Given the description of an element on the screen output the (x, y) to click on. 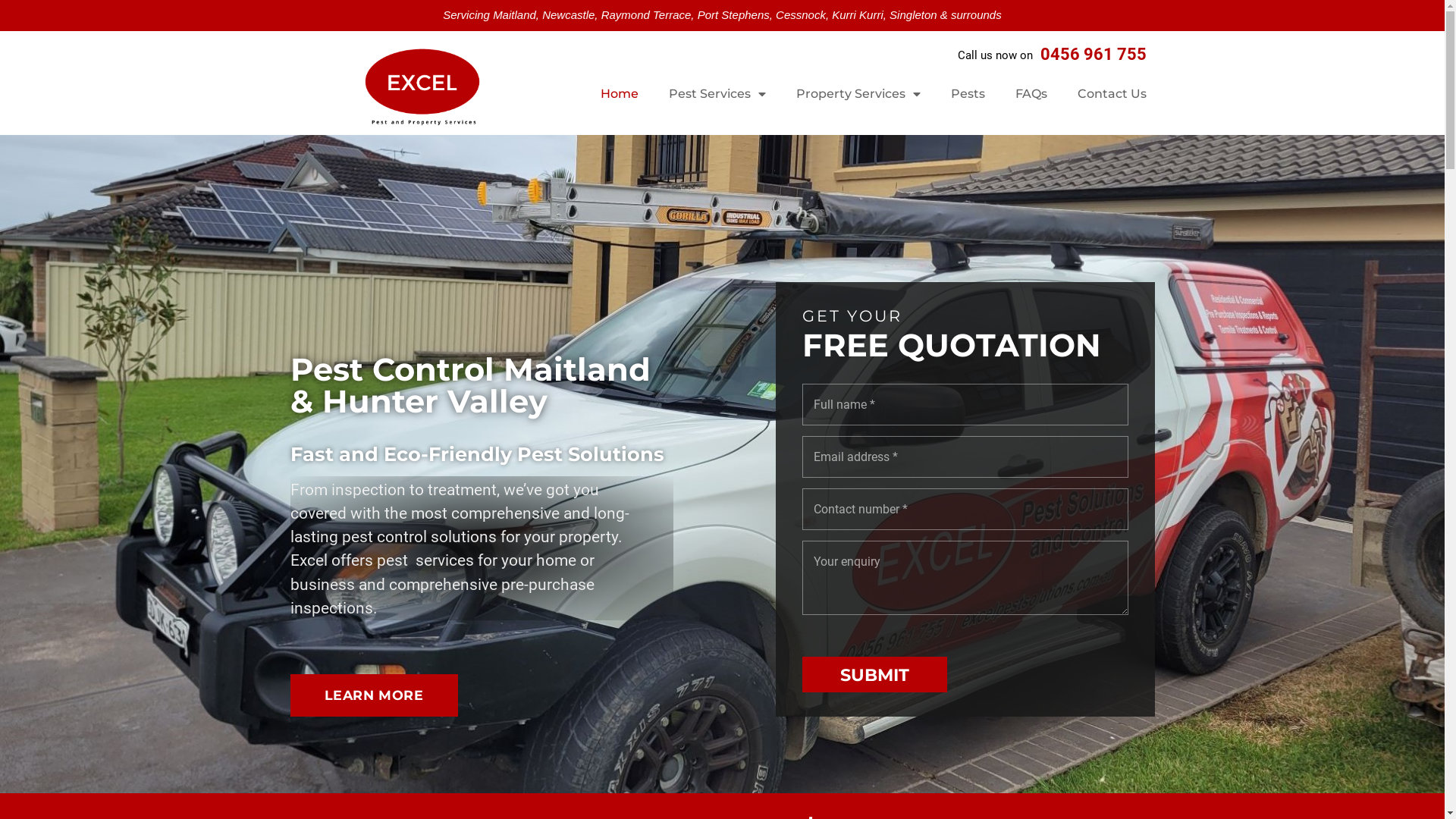
Contact Us Element type: text (1111, 93)
FAQs Element type: text (1031, 93)
LEARN MORE Element type: text (373, 695)
Property Services Element type: text (858, 93)
Home Element type: text (619, 93)
Pest Services Element type: text (716, 93)
Pests Element type: text (967, 93)
SUBMIT Element type: text (874, 674)
0456 961 755 Element type: text (1093, 54)
